Given the description of an element on the screen output the (x, y) to click on. 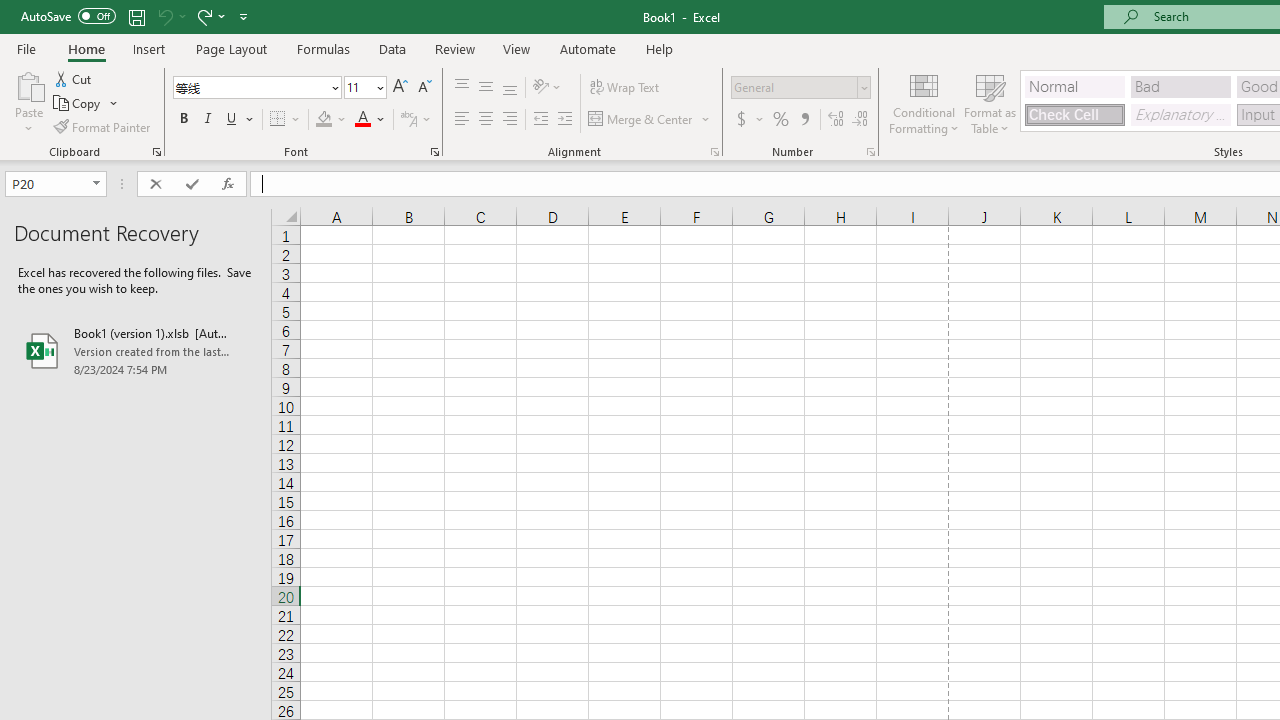
Data (392, 48)
Copy (78, 103)
Decrease Font Size (424, 87)
Increase Font Size (399, 87)
Font Size (365, 87)
Decrease Decimal (859, 119)
Open (96, 183)
Conditional Formatting (924, 102)
Cut (73, 78)
Align Left (461, 119)
Format as Table (990, 102)
Check Cell (1074, 114)
Font (256, 87)
Bad (1180, 86)
